Given the description of an element on the screen output the (x, y) to click on. 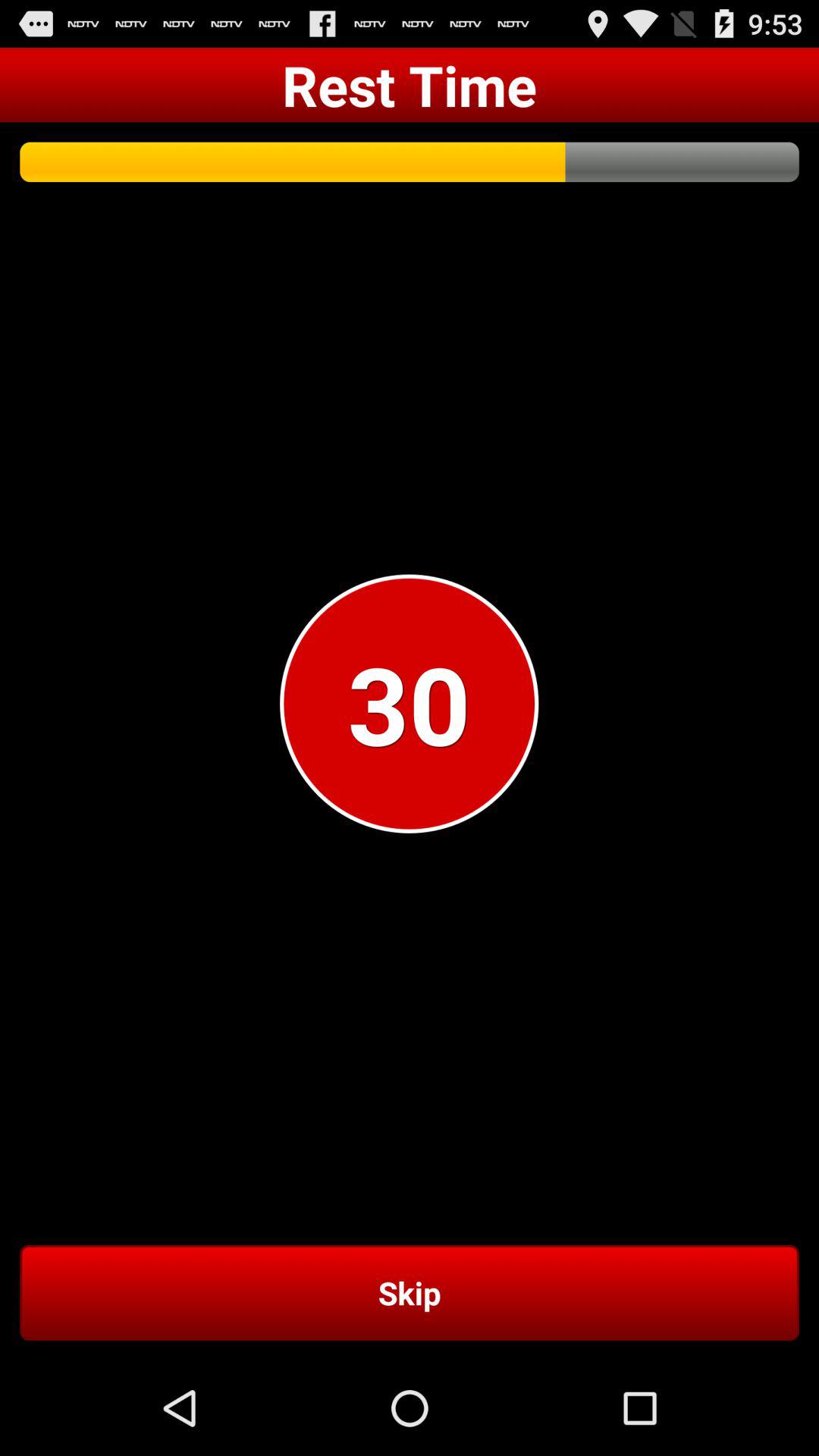
turn on skip at the bottom (409, 1292)
